Given the description of an element on the screen output the (x, y) to click on. 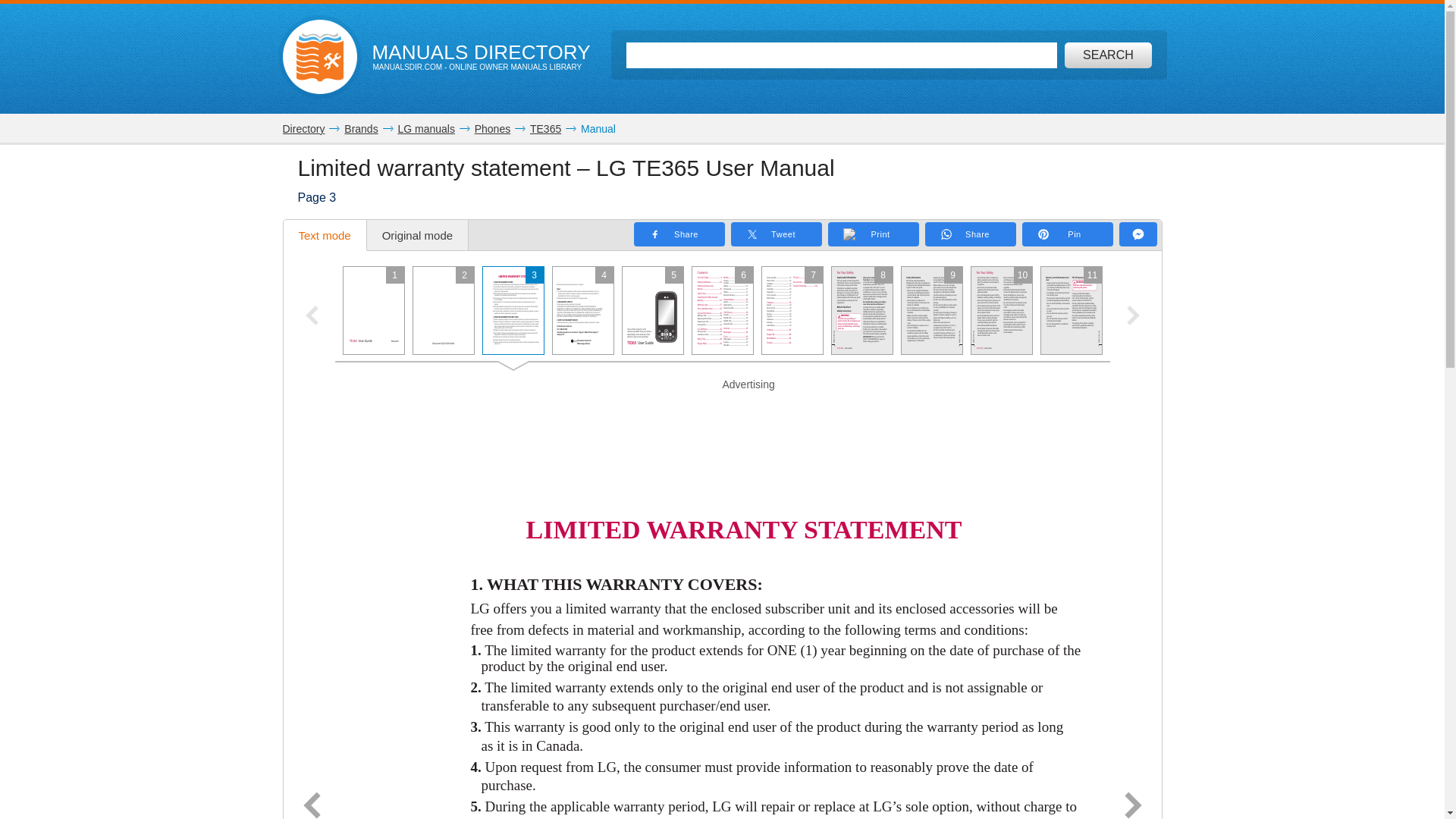
SEARCH (1107, 54)
Directory (303, 128)
TE365 (544, 128)
Advertisement (722, 411)
Phones (492, 128)
Original mode (417, 235)
Brands (360, 128)
LG manuals (425, 128)
Text mode (324, 235)
